Given the description of an element on the screen output the (x, y) to click on. 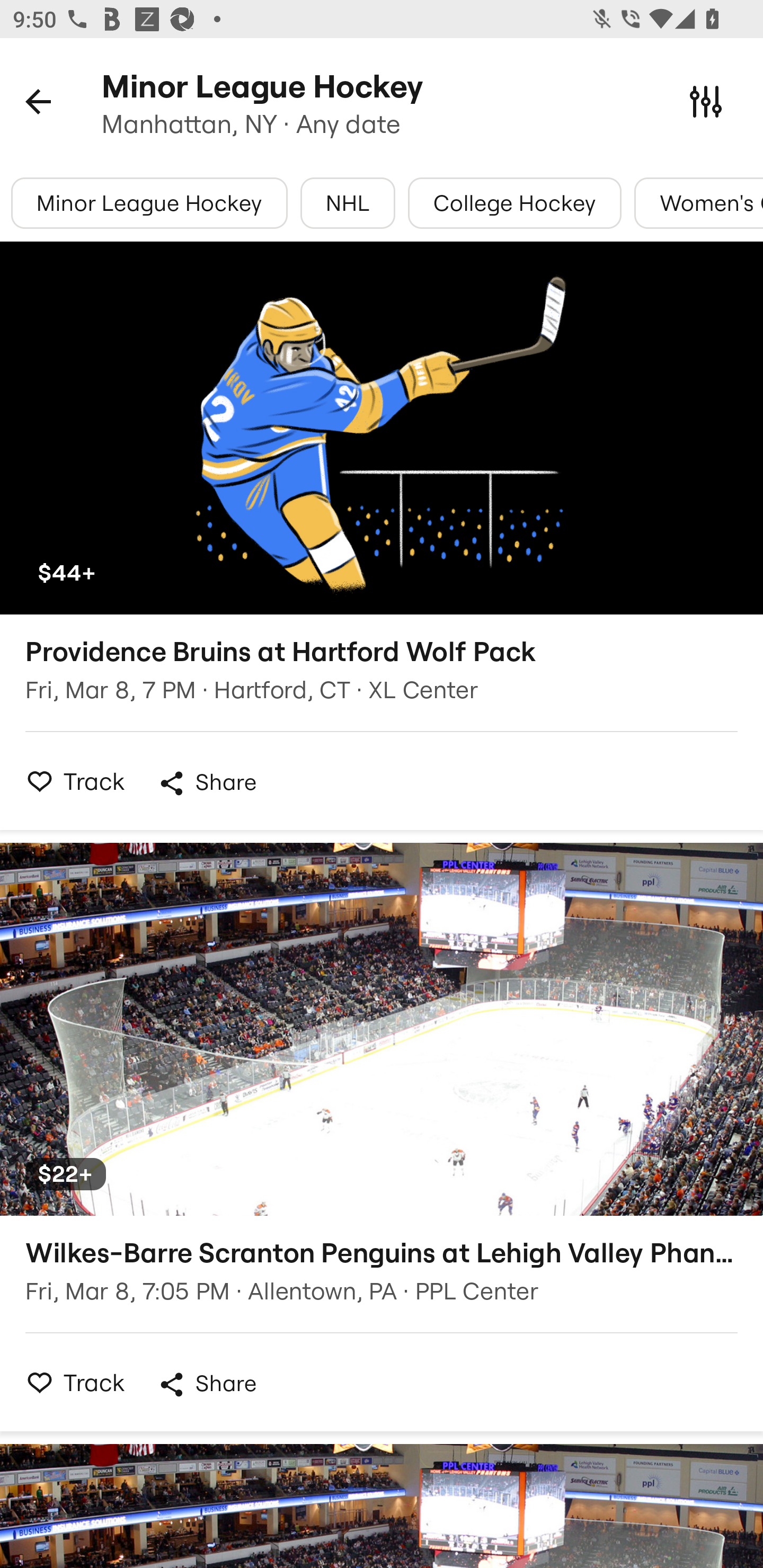
Back (38, 100)
Filters (705, 100)
Minor League Hockey (149, 202)
NHL (347, 202)
College Hockey (514, 202)
Women's College Hockey (698, 202)
Track (70, 780)
Share (207, 783)
Track (70, 1381)
Share (207, 1384)
